Given the description of an element on the screen output the (x, y) to click on. 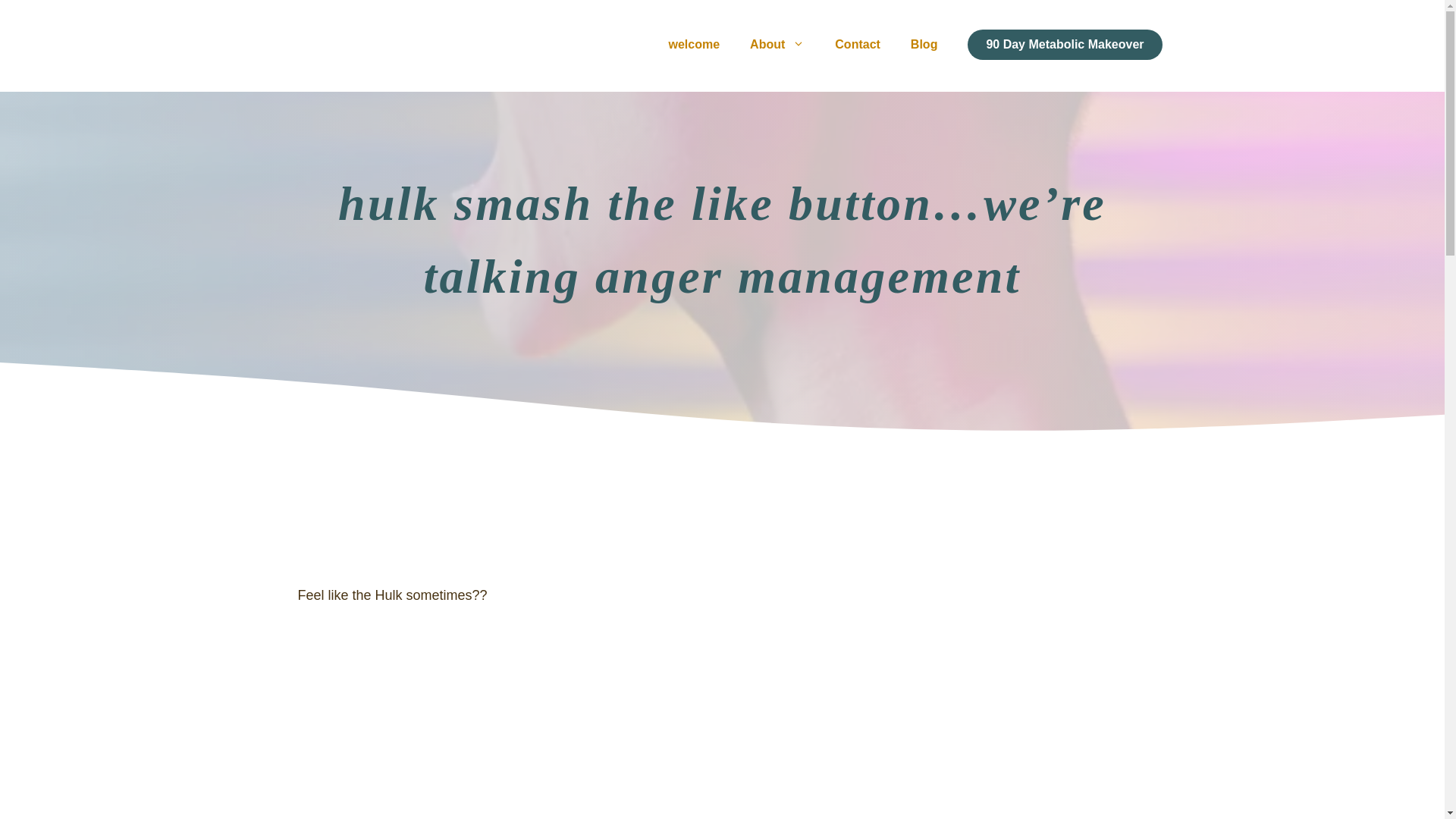
About (777, 44)
welcome (694, 44)
Contact (857, 44)
90 Day Metabolic Makeover (1064, 44)
Blog (924, 44)
